Given the description of an element on the screen output the (x, y) to click on. 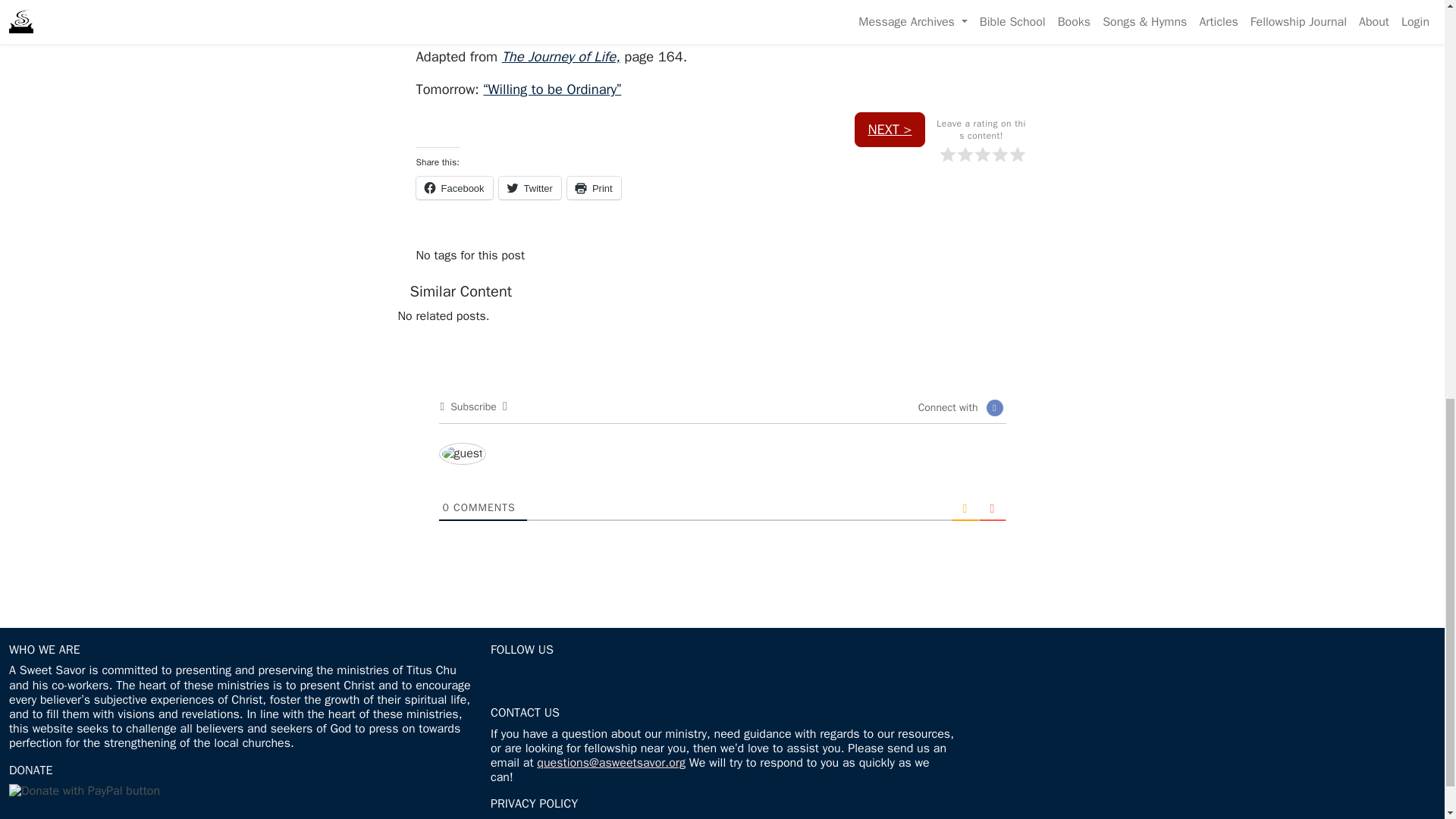
Print (594, 187)
Go to the listing for this book. (561, 56)
Go to the entry for this "Daily Word." (552, 88)
The Journey of Life, (561, 56)
Twitter (529, 187)
Click to share on Facebook (453, 187)
Click to share on Twitter (529, 187)
Facebook (453, 187)
Click to print (594, 187)
